Given the description of an element on the screen output the (x, y) to click on. 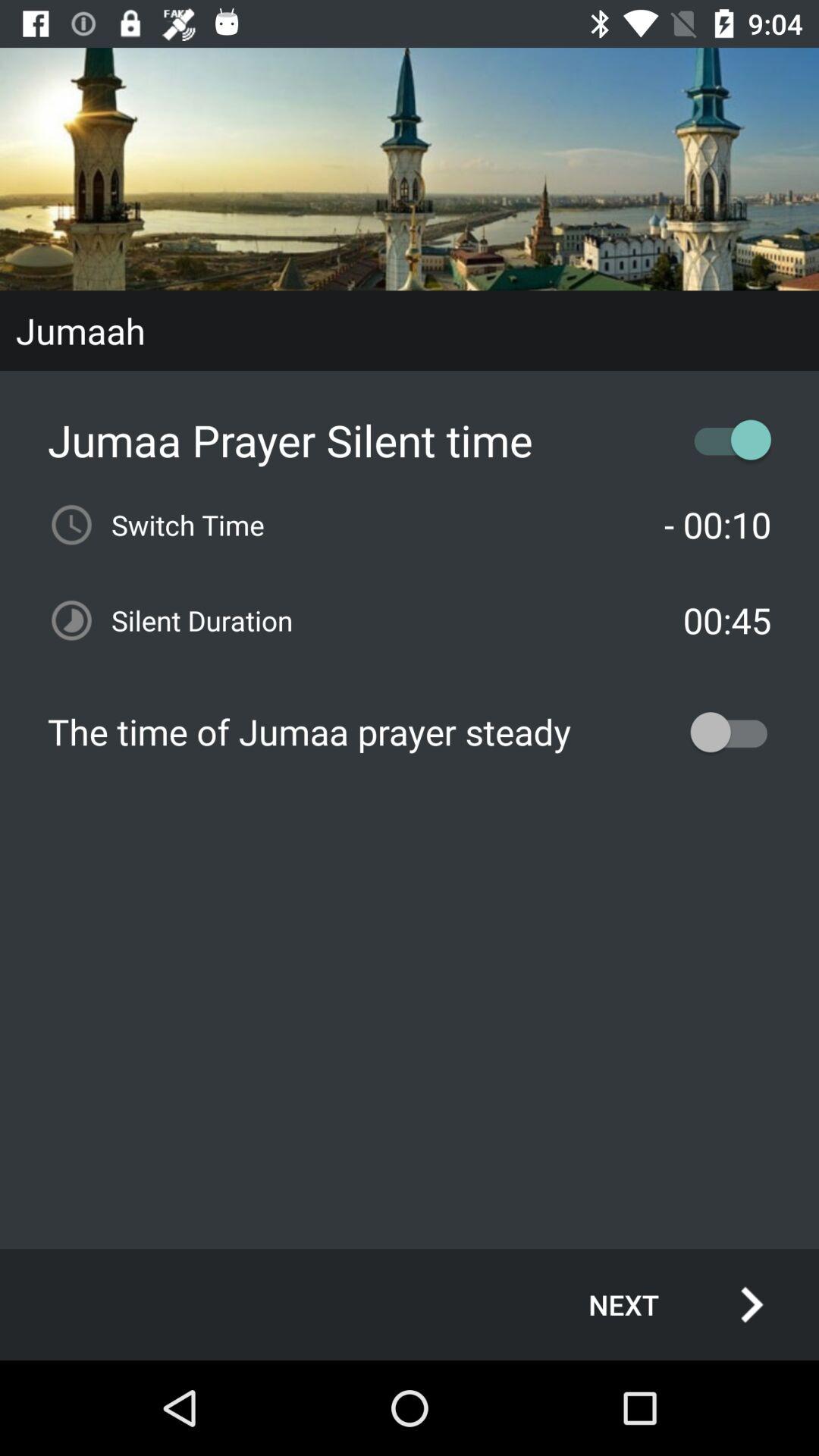
launch the icon below the the time of icon (659, 1304)
